Given the description of an element on the screen output the (x, y) to click on. 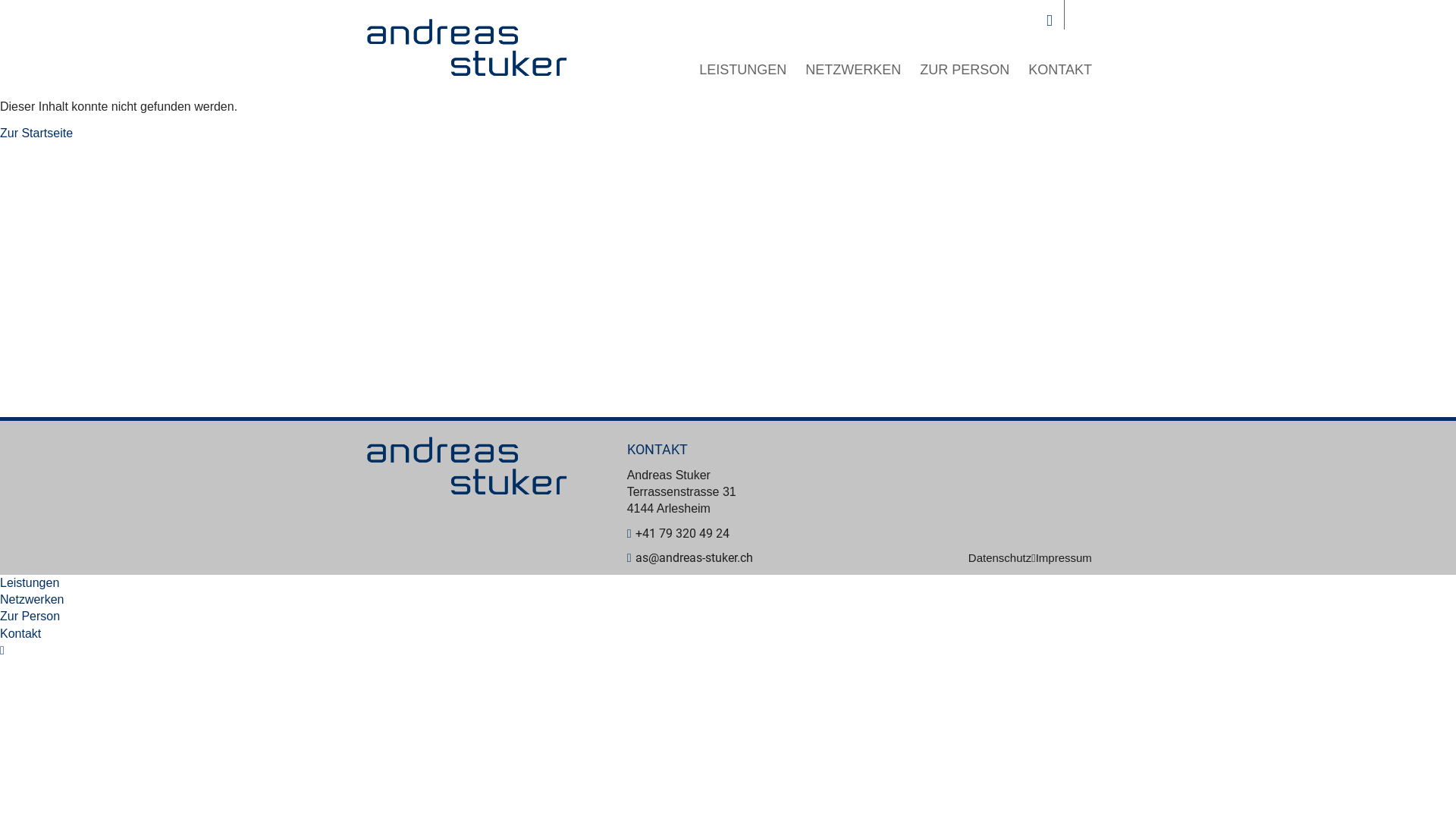
+41 79 320 49 24 Element type: text (678, 533)
as@andreas-stuker.ch Element type: text (690, 557)
NETZWERKEN Element type: text (852, 69)
English Element type: hover (7, 667)
Zur Person Element type: text (29, 615)
Leistungen Element type: text (29, 582)
English Element type: hover (1084, 18)
KONTAKT Element type: text (1060, 69)
linkedin Element type: hover (1049, 19)
ZUR PERSON Element type: text (964, 69)
LEISTUNGEN Element type: text (742, 69)
Netzwerken Element type: text (31, 599)
Zur Startseite Element type: text (36, 132)
linkedin Element type: hover (2, 649)
Datenschutz Element type: text (1001, 557)
Kontakt Element type: text (20, 633)
Impressum Element type: text (1063, 557)
